Given the description of an element on the screen output the (x, y) to click on. 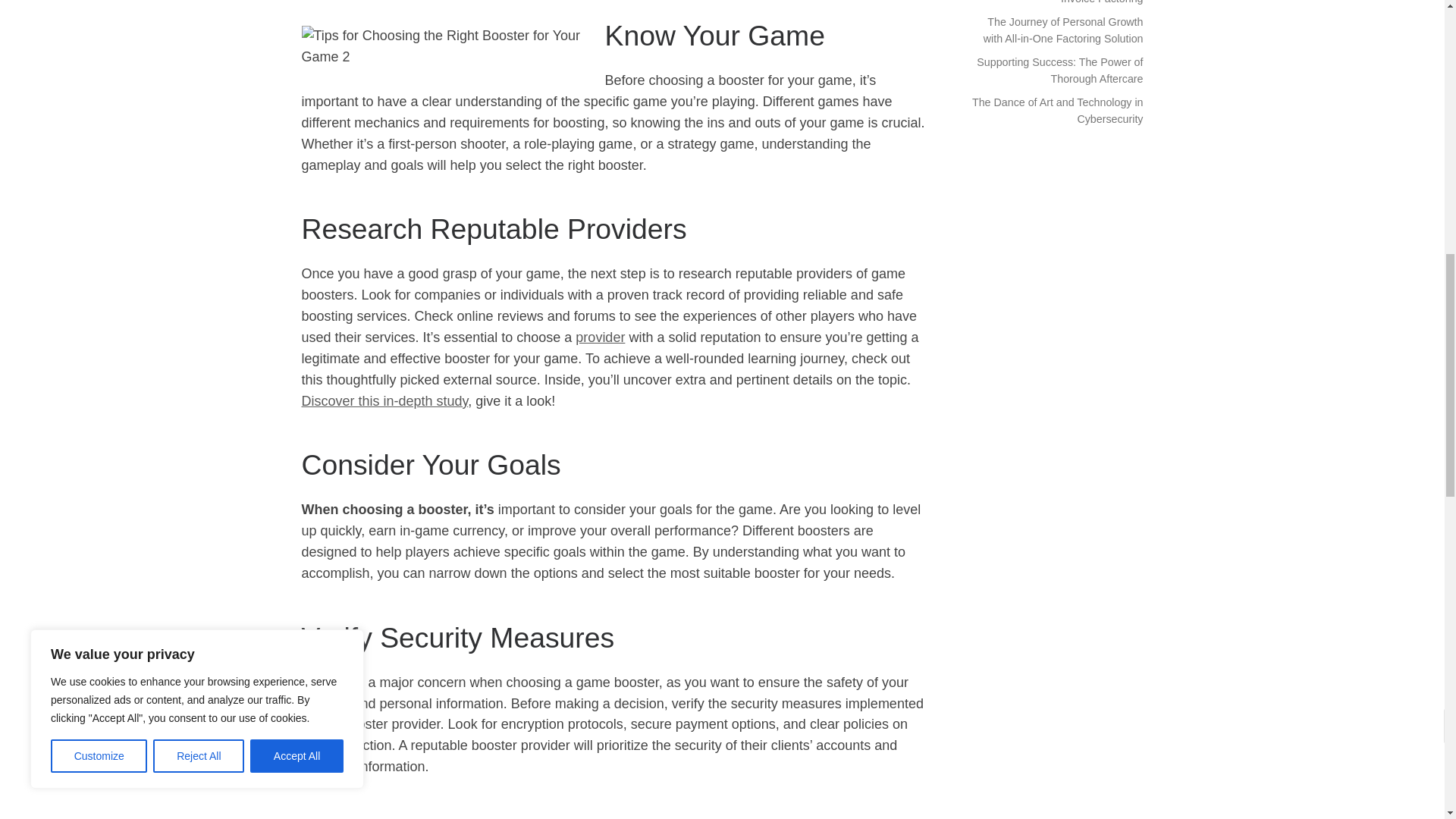
Discover this in-depth study (384, 400)
provider (599, 337)
